Given the description of an element on the screen output the (x, y) to click on. 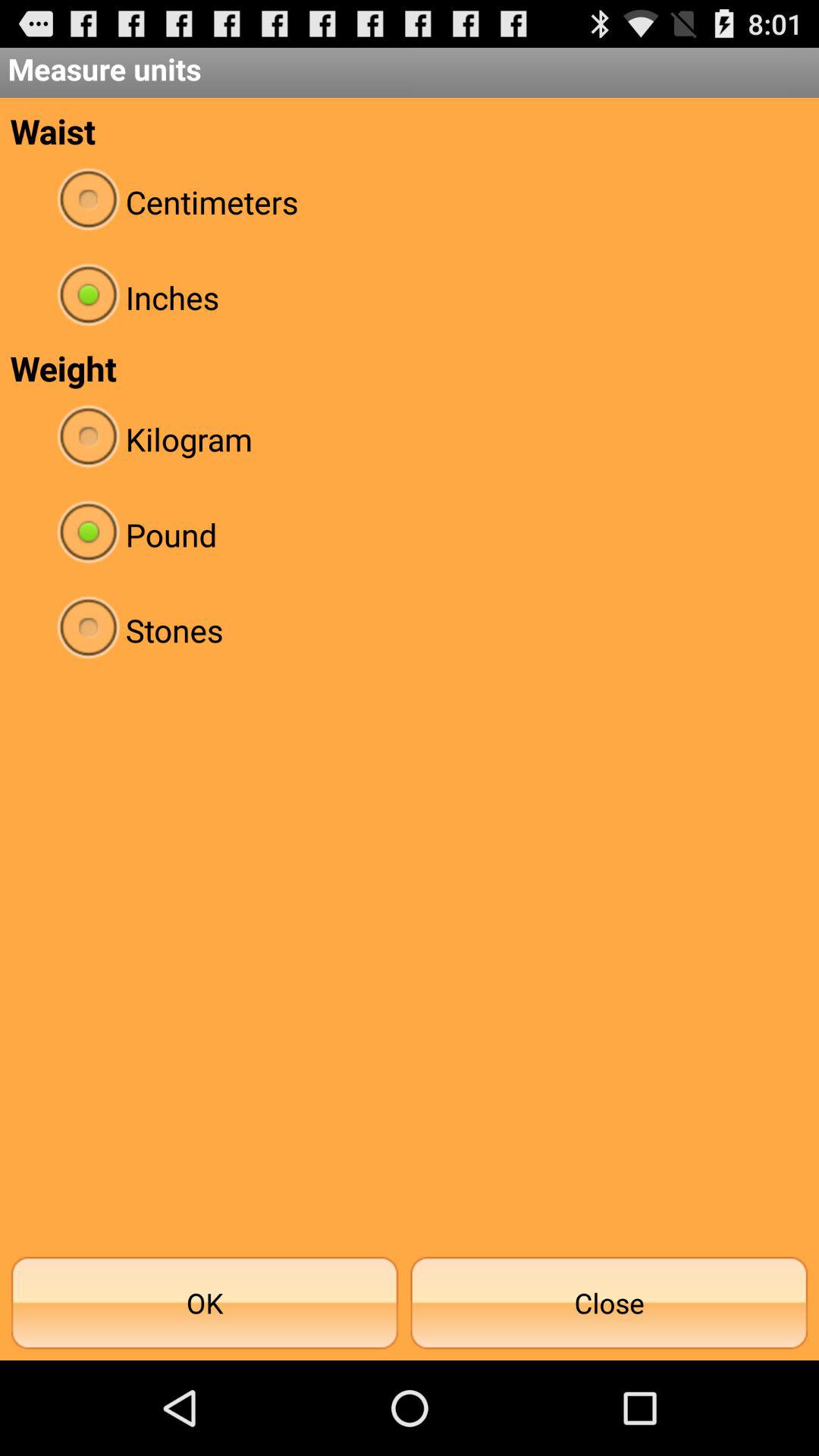
jump until the pound radio button (409, 534)
